Given the description of an element on the screen output the (x, y) to click on. 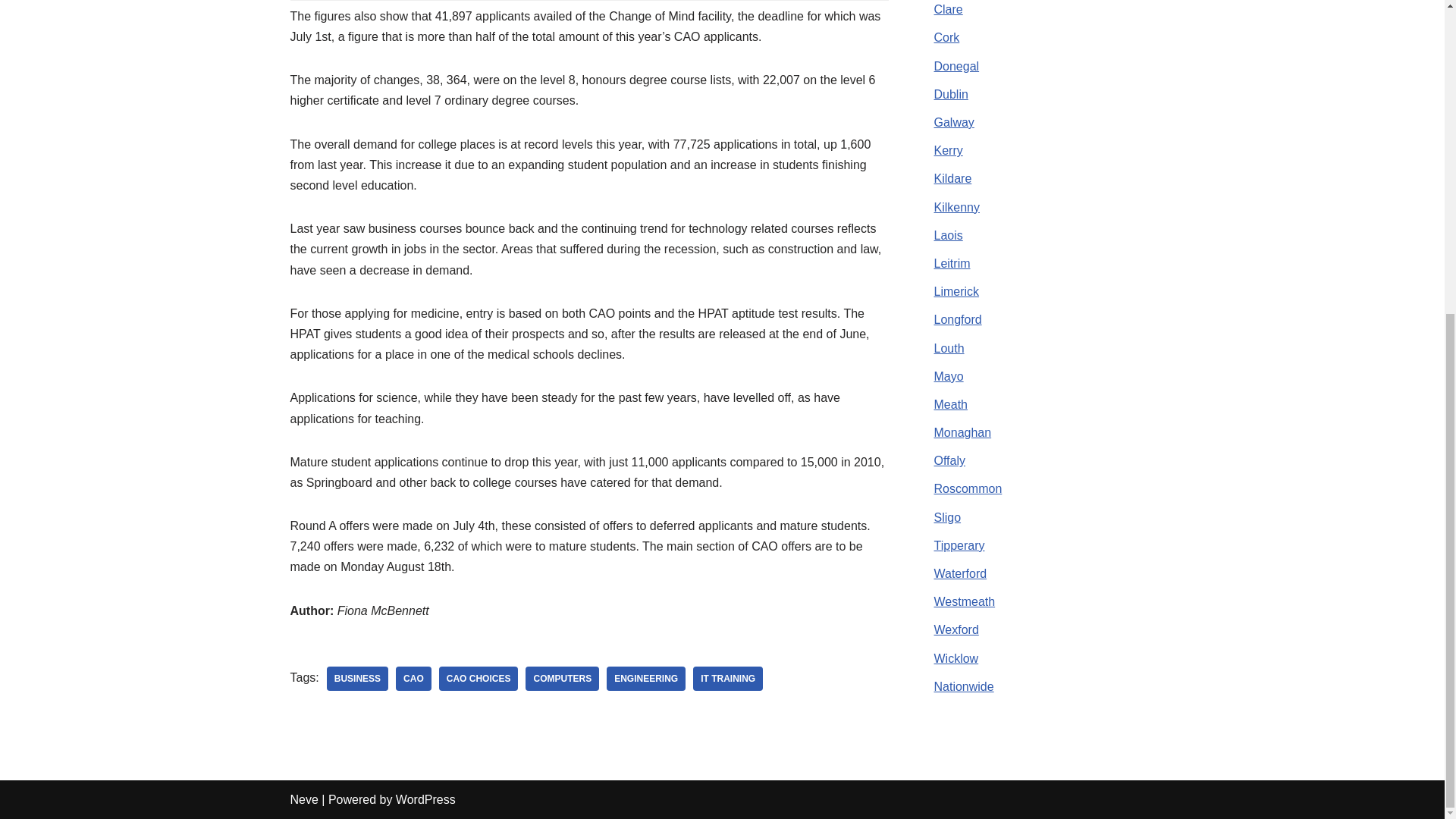
Cork (946, 37)
cao choices (478, 678)
Leitrim (952, 263)
BUSINESS (357, 678)
Dublin (951, 93)
Longford (957, 318)
Kildare (953, 178)
cao (413, 678)
Laois (948, 235)
Kilkenny (956, 206)
Limerick (956, 291)
Mayo (948, 376)
Donegal (956, 65)
CAO (413, 678)
computers (561, 678)
